Given the description of an element on the screen output the (x, y) to click on. 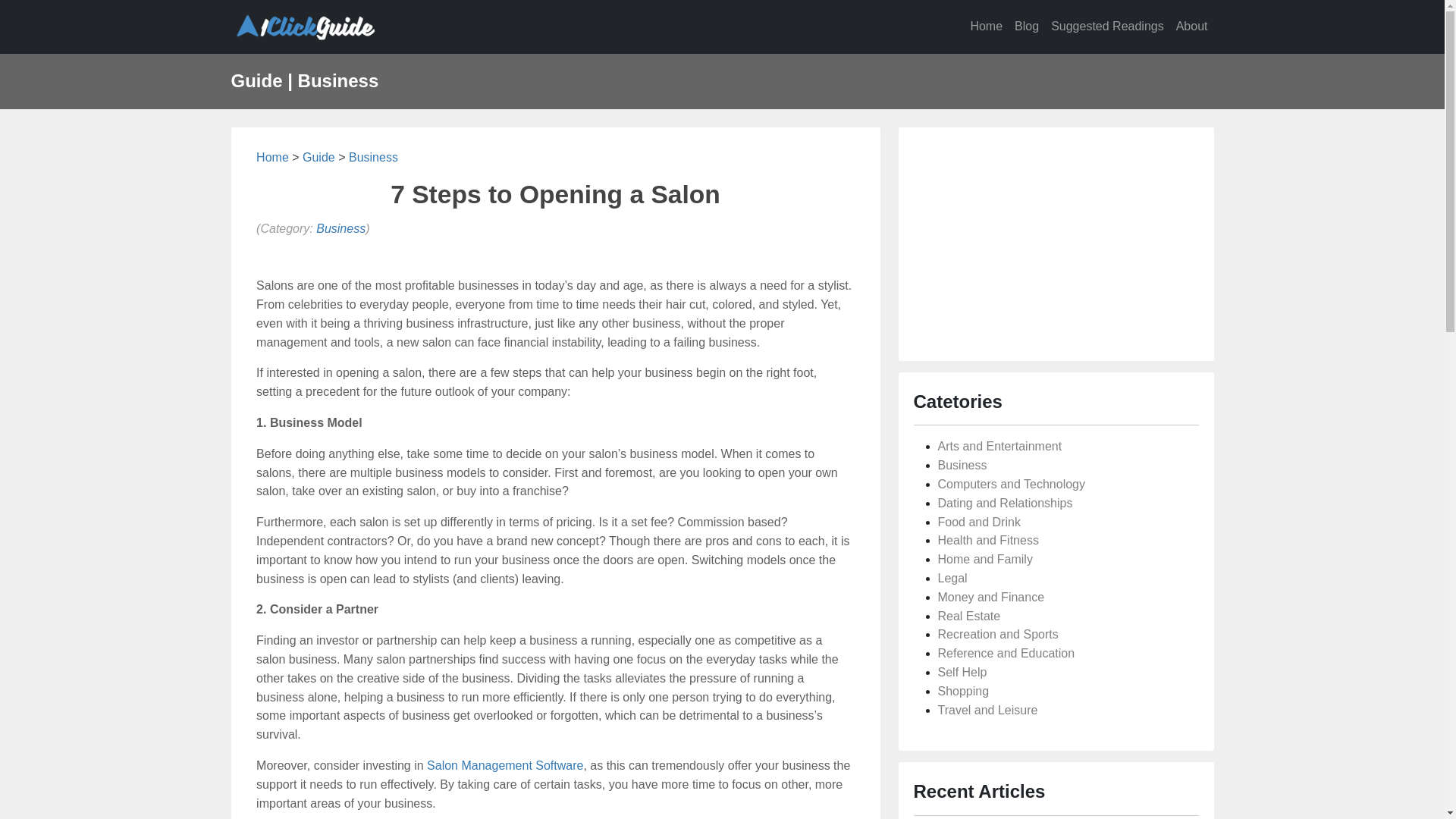
Dating and Relationships Element type: text (1004, 502)
Business Element type: text (373, 156)
Home Element type: text (272, 156)
Real Estate Element type: text (968, 615)
Legal Element type: text (951, 577)
Recreation and Sports Element type: text (997, 633)
Computers and Technology Element type: text (1011, 483)
Home Element type: text (985, 26)
Self Help Element type: text (961, 671)
Advertisement Element type: hover (1055, 240)
Business Element type: text (961, 464)
Shopping Element type: text (962, 690)
Guide Element type: text (318, 156)
Food and Drink Element type: text (978, 521)
Health and Fitness Element type: text (987, 539)
Arts and Entertainment Element type: text (999, 445)
Home and Family Element type: text (984, 558)
Travel and Leisure Element type: text (987, 709)
Business Element type: text (340, 228)
Money and Finance Element type: text (990, 596)
About Element type: text (1192, 26)
Blog Element type: text (1026, 26)
Salon Management Software Element type: text (504, 765)
Reference and Education Element type: text (1005, 652)
Suggested Readings Element type: text (1107, 26)
